Given the description of an element on the screen output the (x, y) to click on. 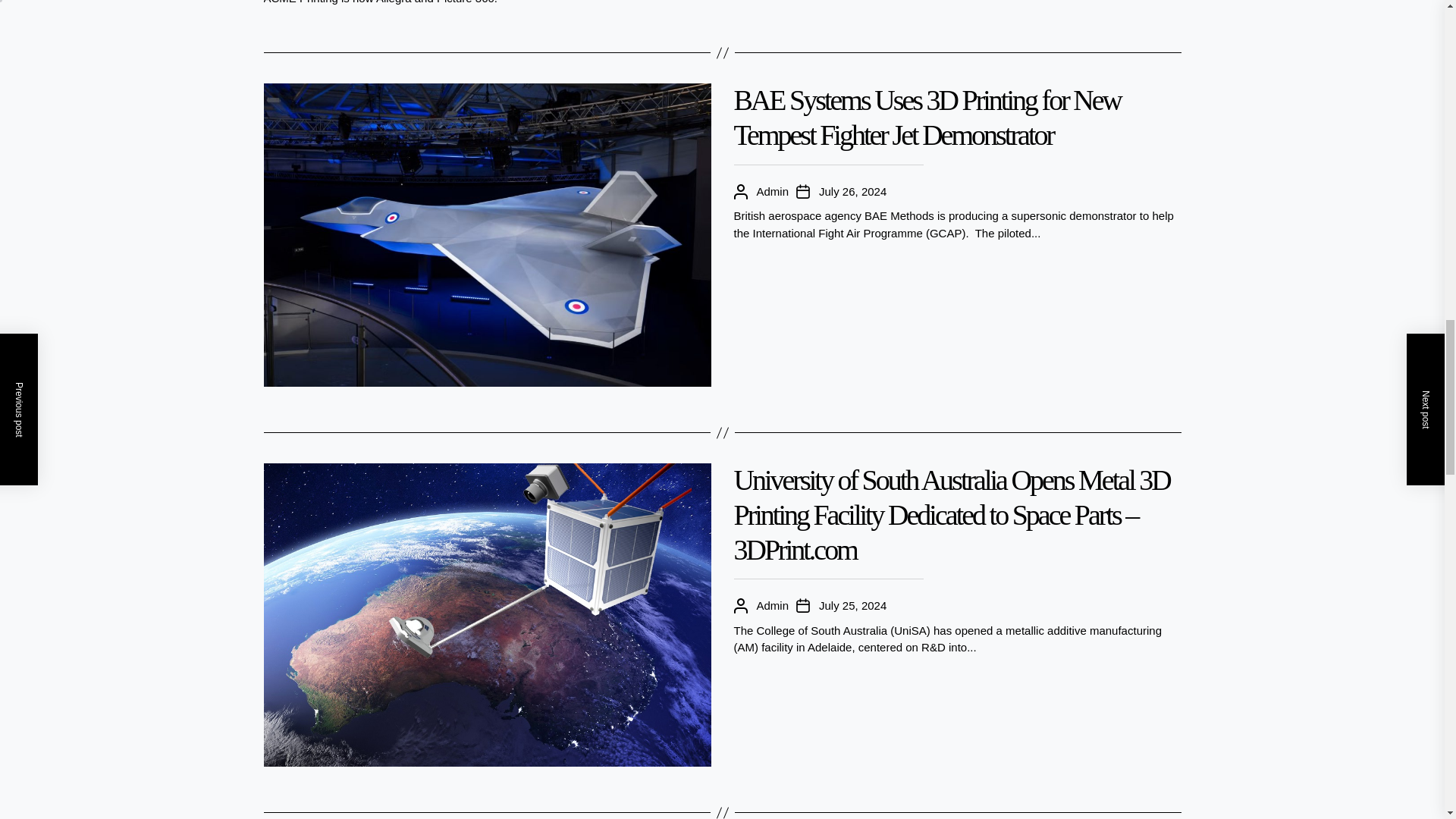
Admin (773, 606)
Admin (773, 191)
July 26, 2024 (852, 191)
July 25, 2024 (852, 606)
